Given the description of an element on the screen output the (x, y) to click on. 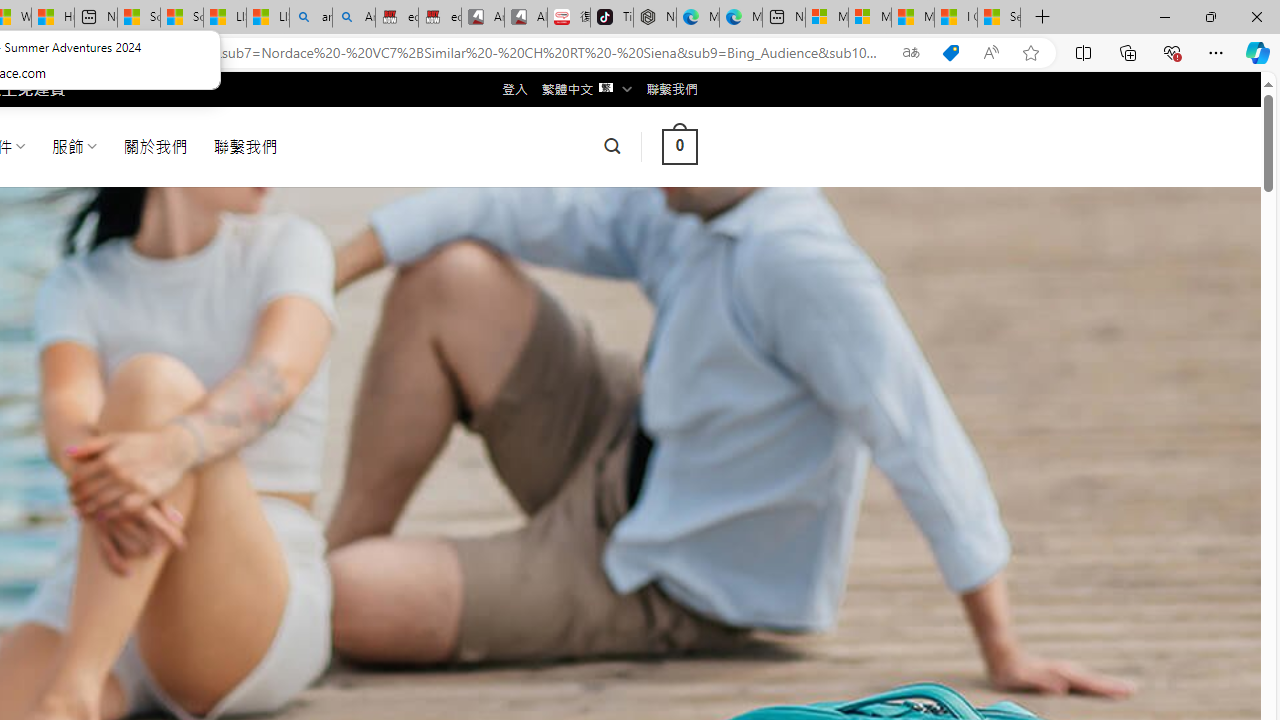
Nordace - Best Sellers (654, 17)
Huge shark washes ashore at New York City beach | Watch (53, 17)
 0  (679, 146)
